Given the description of an element on the screen output the (x, y) to click on. 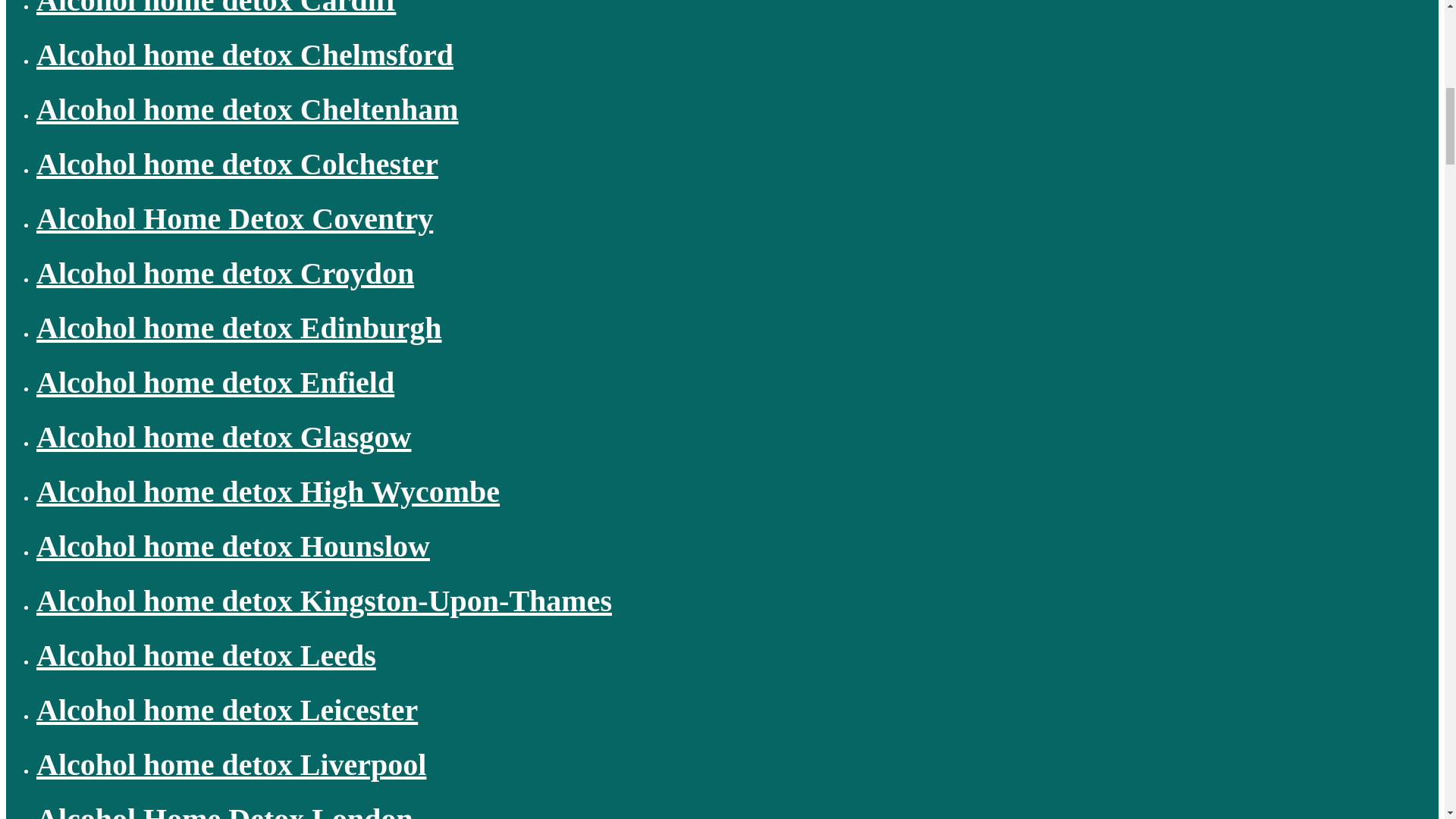
Alcohol home detox Croydon (224, 273)
Alcohol home detox Chelmsford (244, 54)
Alcohol home detox High Wycombe (267, 491)
Alcohol home detox Glasgow (223, 437)
Alcohol home detox Hounslow (232, 546)
Alcohol home detox Liverpool (231, 764)
Alcohol home detox Cheltenham (247, 109)
Alcohol Home Detox Coventry (234, 218)
Alcohol home detox Enfield (215, 382)
Alcohol home detox Cardiff (216, 8)
Alcohol home detox Kingston-Upon-Thames (323, 600)
Alcohol home detox Leicester (226, 709)
Alcohol home detox Leeds (205, 655)
Alcohol home detox Colchester (237, 163)
Alcohol home detox Edinburgh (239, 327)
